Given the description of an element on the screen output the (x, y) to click on. 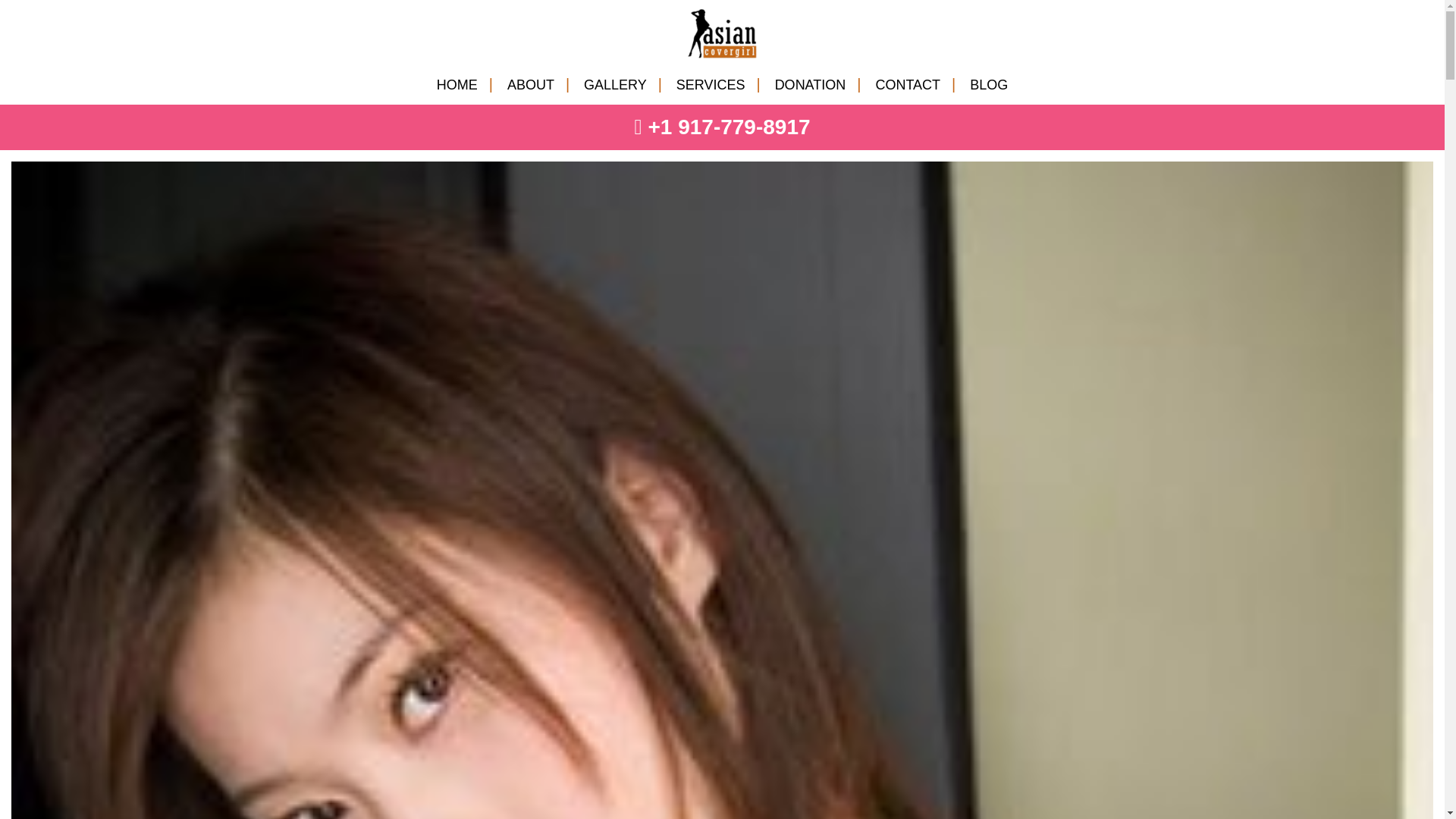
BLOG (988, 84)
CONTACT (907, 84)
GALLERY (615, 84)
DONATION (809, 84)
ABOUT (531, 84)
SERVICES (711, 84)
HOME (457, 84)
